Given the description of an element on the screen output the (x, y) to click on. 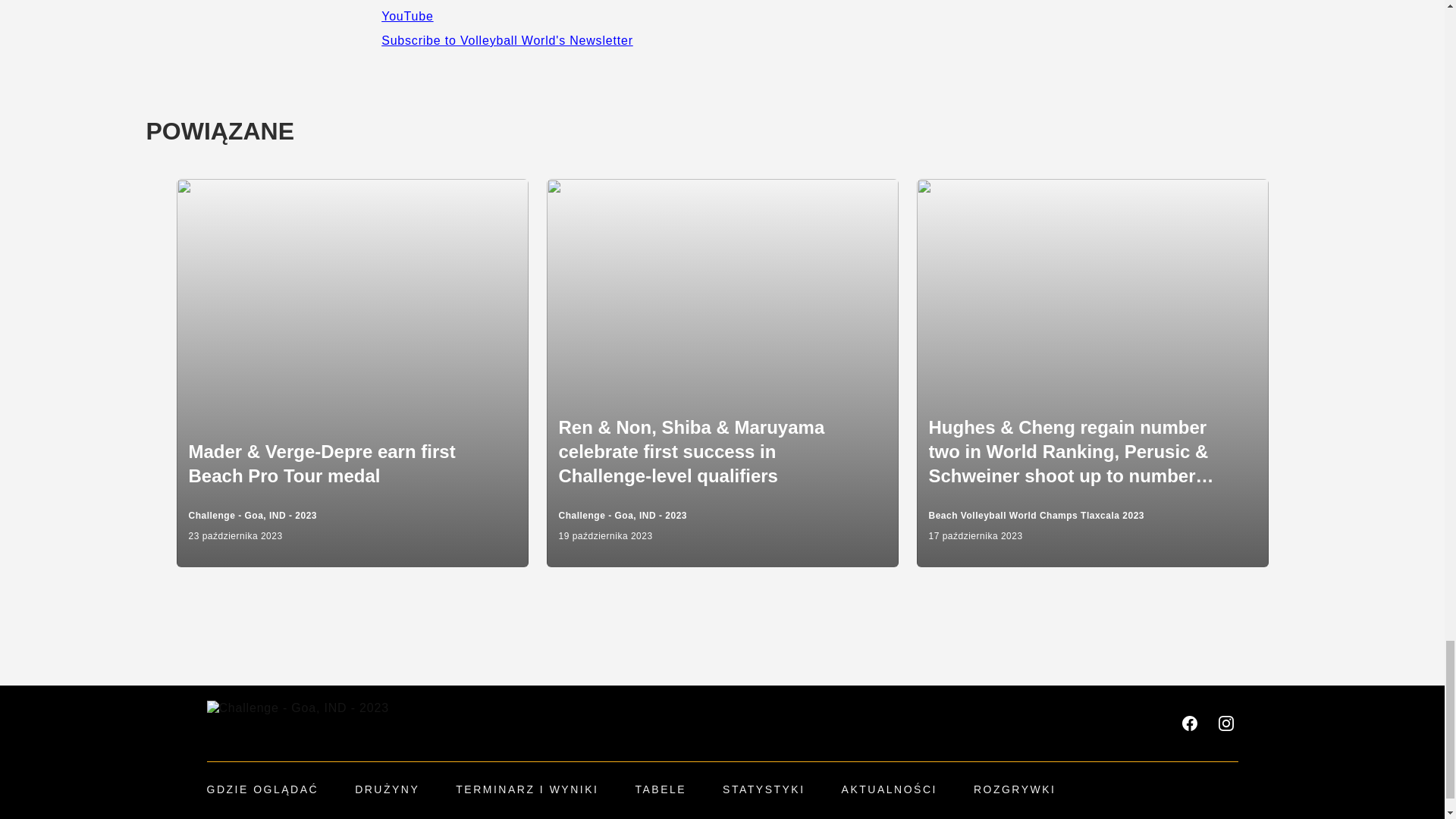
facebook (1188, 723)
Challenge - Goa, IND - 2023 (297, 723)
instagram (1224, 723)
